Given the description of an element on the screen output the (x, y) to click on. 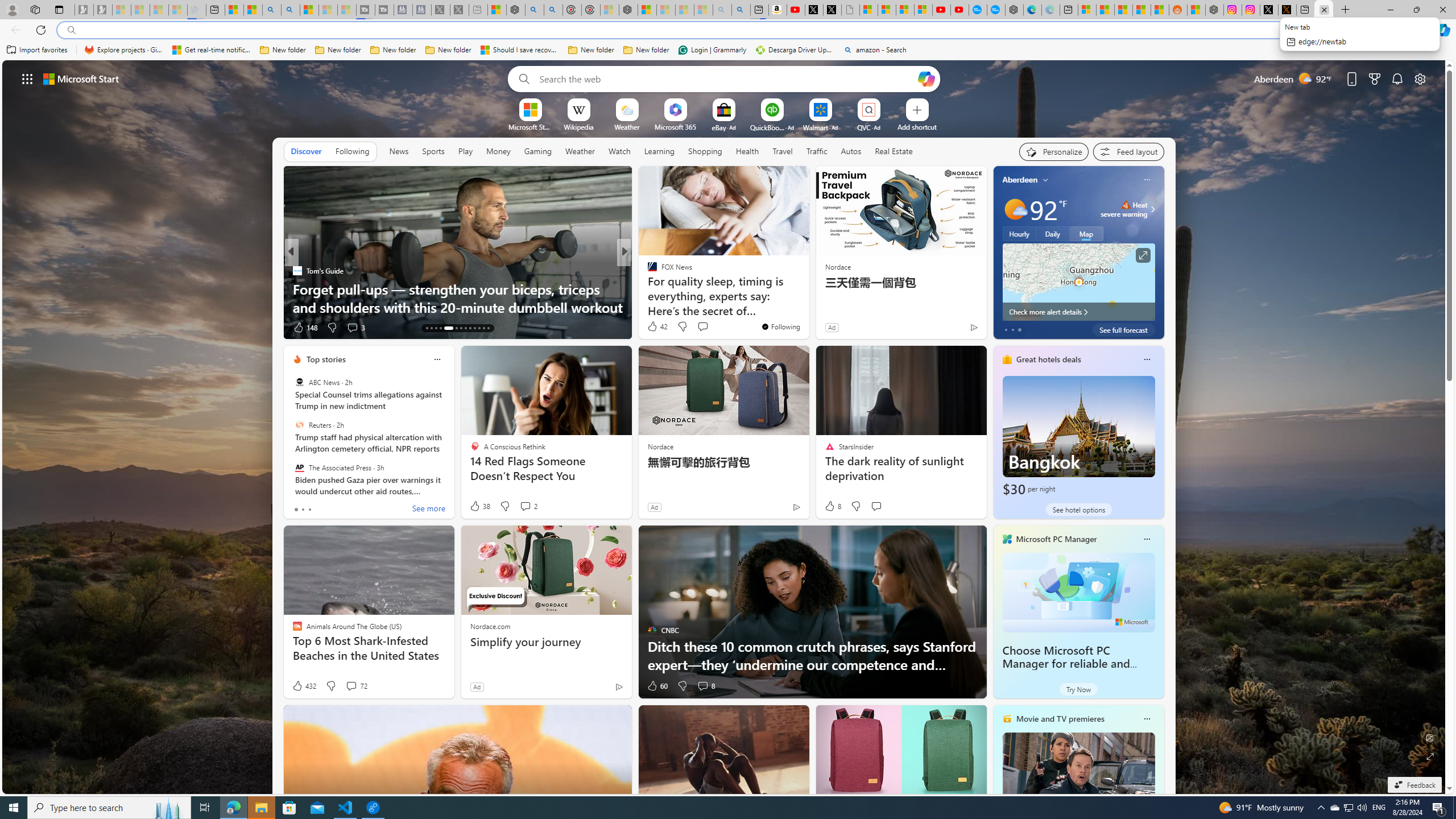
Gloom - YouTube (941, 9)
60 Like (657, 685)
You're following FOX News (780, 326)
Heat - Severe Heat severe warning (1123, 208)
help.x.com | 524: A timeout occurred (1287, 9)
New folder (646, 49)
Check more alert details (1077, 311)
432 Like (303, 685)
Heat - Severe (1126, 204)
Class: control (27, 78)
Medpage Today (647, 270)
Autos (850, 151)
